Given the description of an element on the screen output the (x, y) to click on. 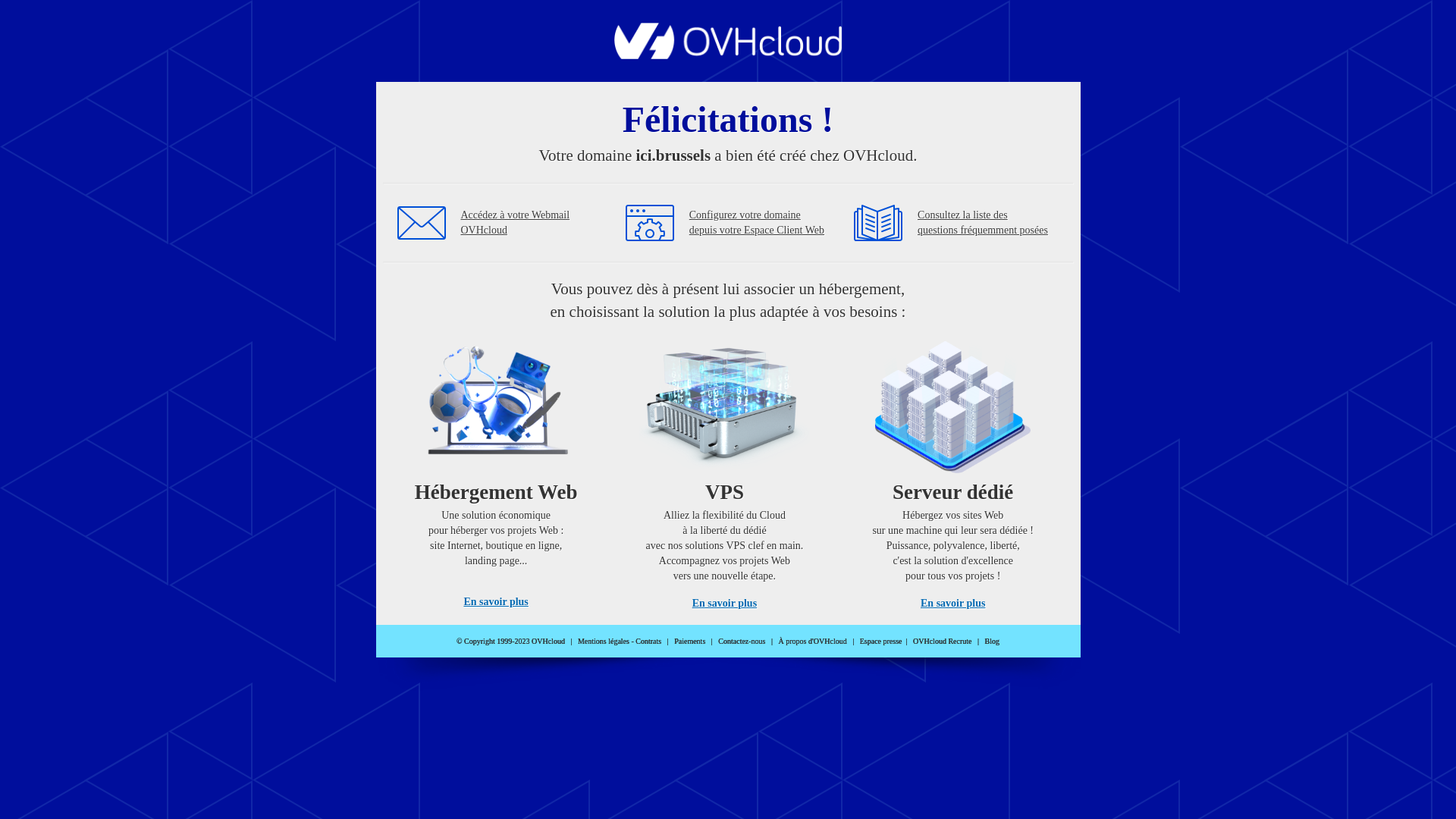
En savoir plus Element type: text (724, 602)
Paiements Element type: text (689, 641)
En savoir plus Element type: text (495, 601)
En savoir plus Element type: text (952, 602)
Espace presse Element type: text (880, 641)
Blog Element type: text (992, 641)
OVHcloud Recrute Element type: text (942, 641)
OVHcloud Element type: hover (727, 54)
Configurez votre domaine
depuis votre Espace Client Web Element type: text (756, 222)
VPS Element type: hover (724, 469)
Contactez-nous Element type: text (741, 641)
